Given the description of an element on the screen output the (x, y) to click on. 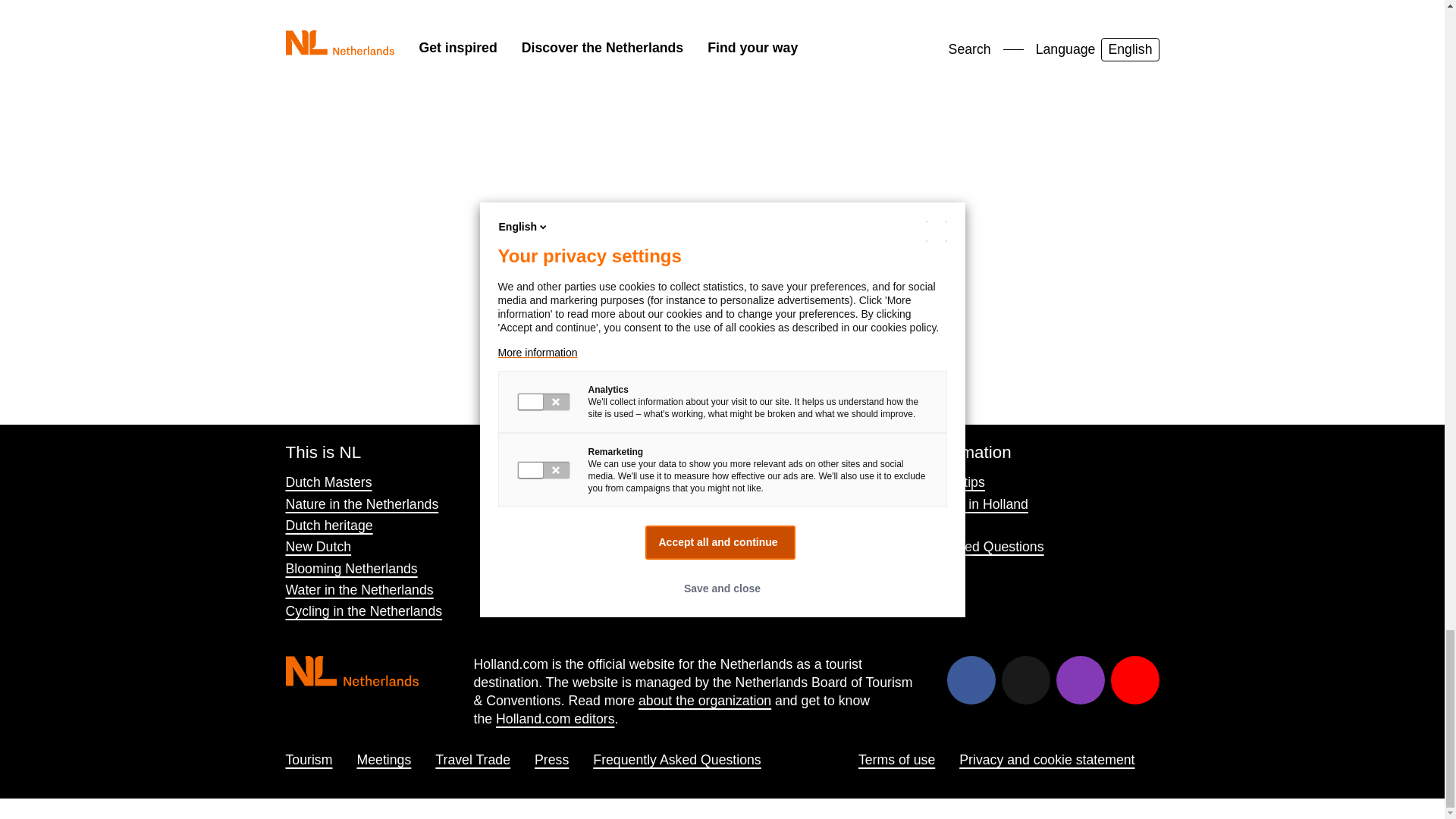
Dutch Masters (328, 482)
Nature in the Netherlands (361, 503)
Dutch heritage (328, 525)
